Given the description of an element on the screen output the (x, y) to click on. 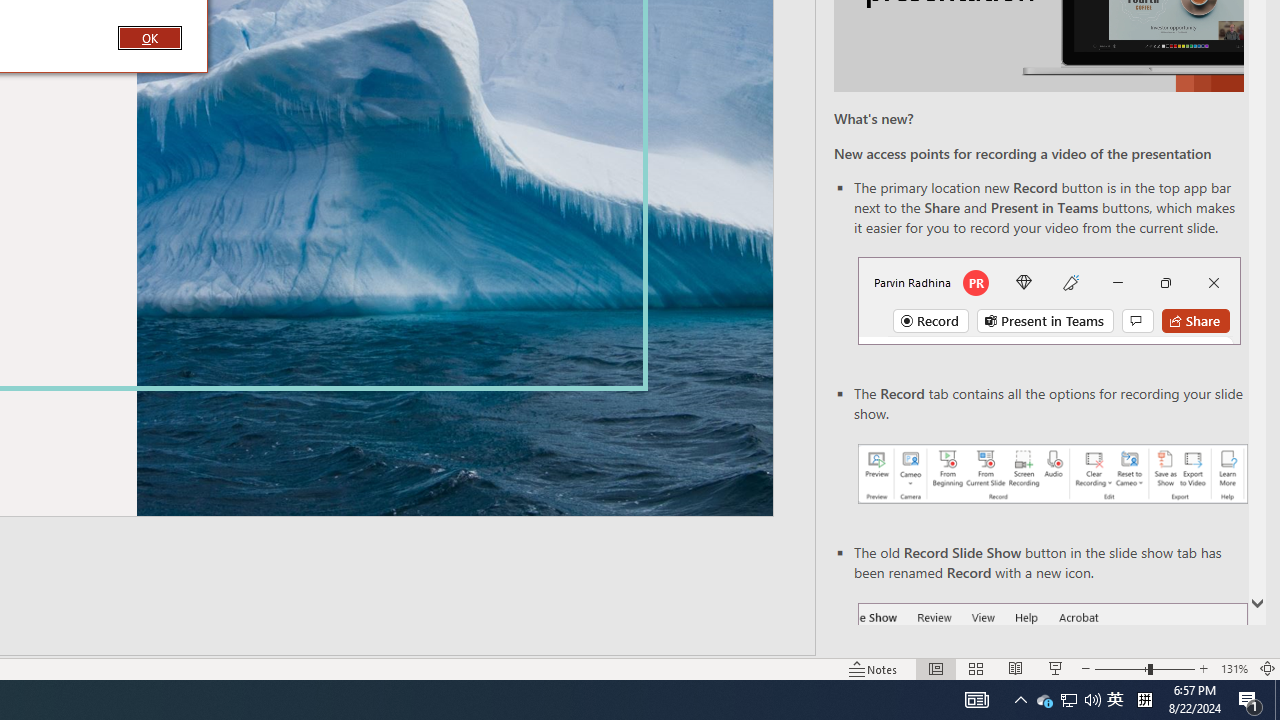
OK (149, 37)
Zoom 131% (1234, 668)
